Given the description of an element on the screen output the (x, y) to click on. 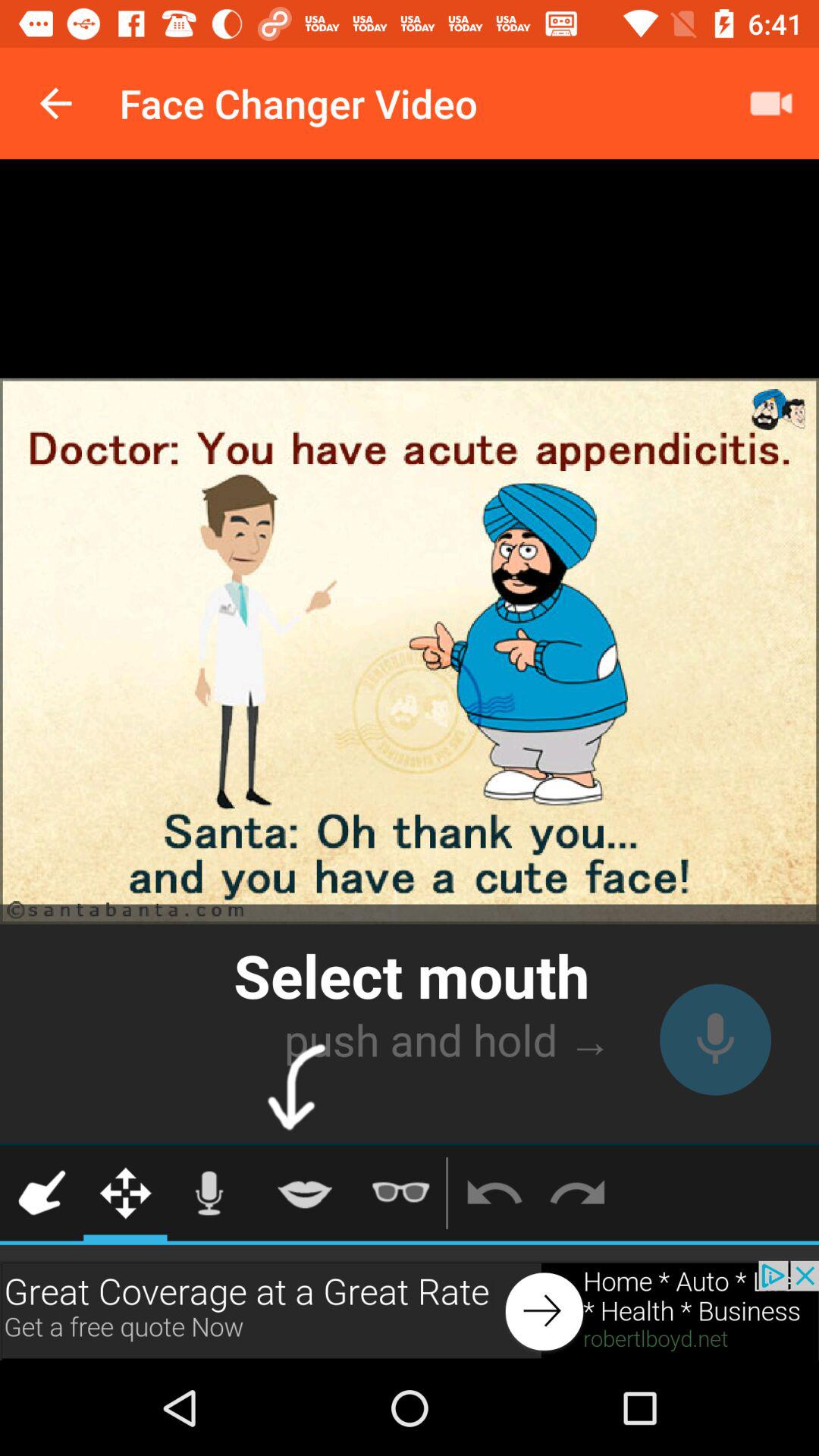
advertisement (409, 1310)
